Given the description of an element on the screen output the (x, y) to click on. 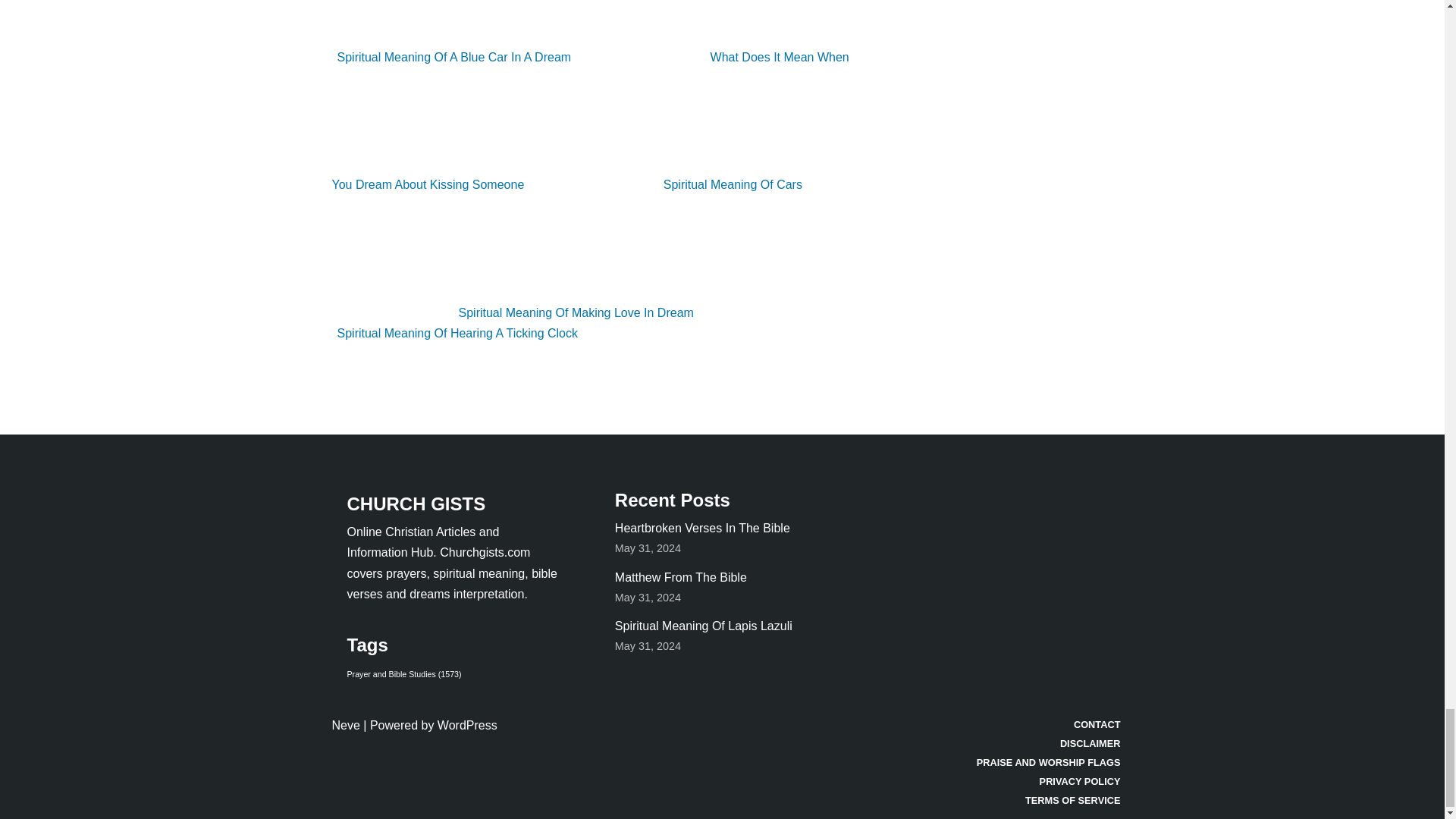
Spiritual Meaning Of Hearing A Ticking Clock (579, 322)
Heartbroken Verses In The Bible (702, 527)
Spiritual Meaning Of A Blue Car In A Dream (594, 31)
What Does It Mean When You Dream About Kissing Someone (589, 120)
Spiritual Meaning Of Making Love In Dream (514, 312)
Spiritual Meaning Of Cars (672, 184)
Spiritual Meaning Of Making Love In Dream (514, 312)
What Does It Mean When You Dream About Kissing Someone (589, 120)
Spiritual Meaning Of Hearing A Ticking Clock (579, 322)
Spiritual Meaning Of Cars (672, 184)
Spiritual Meaning Of A Blue Car In A Dream (594, 31)
